Given the description of an element on the screen output the (x, y) to click on. 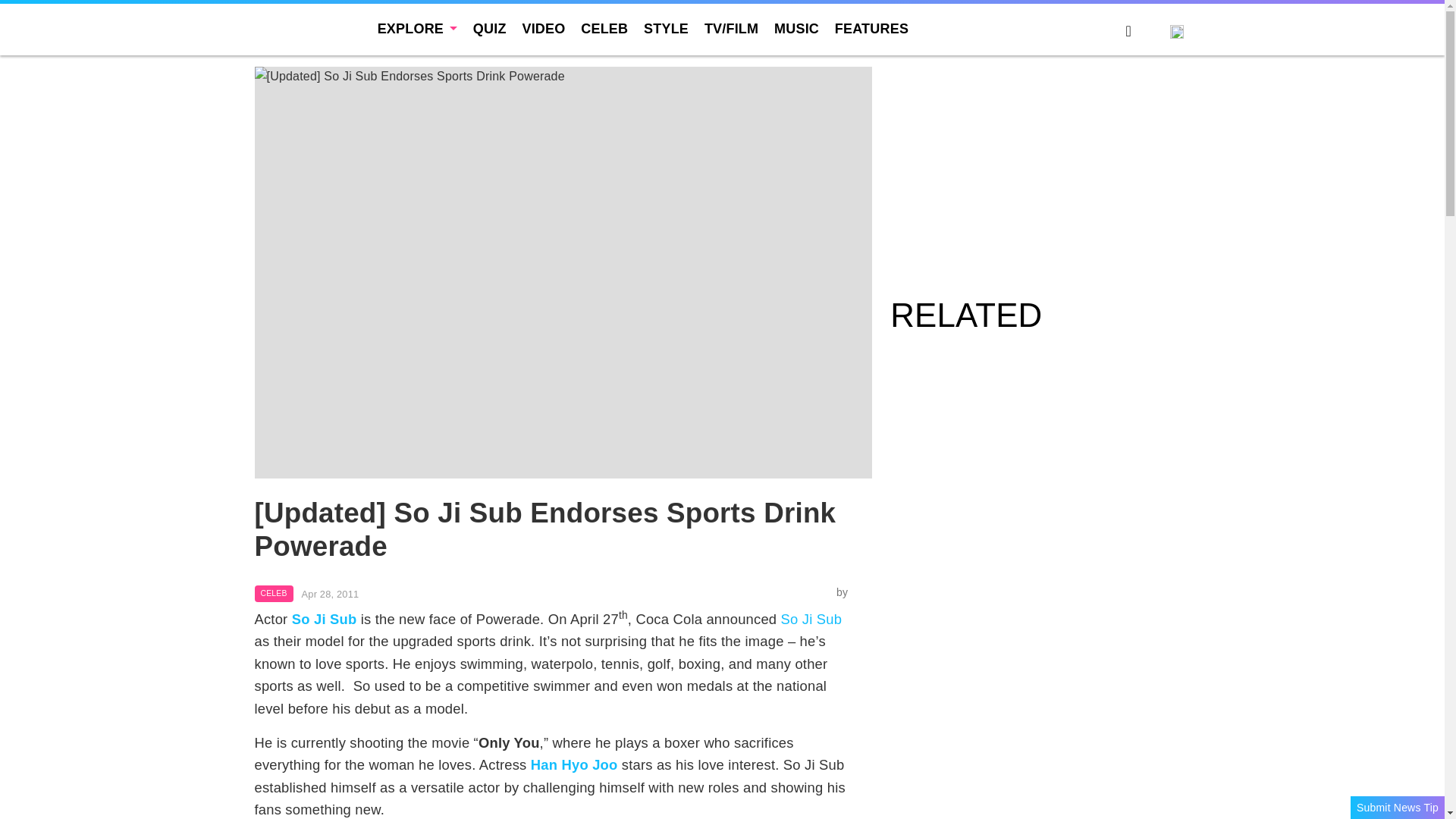
So Ji Sub (811, 618)
VIDEO (542, 28)
Celeb (274, 593)
CELEB (603, 28)
MUSIC (796, 28)
FEATURES (871, 28)
EXPLORE (417, 28)
QUIZ (489, 28)
STYLE (665, 28)
CELEB (274, 593)
